Given the description of an element on the screen output the (x, y) to click on. 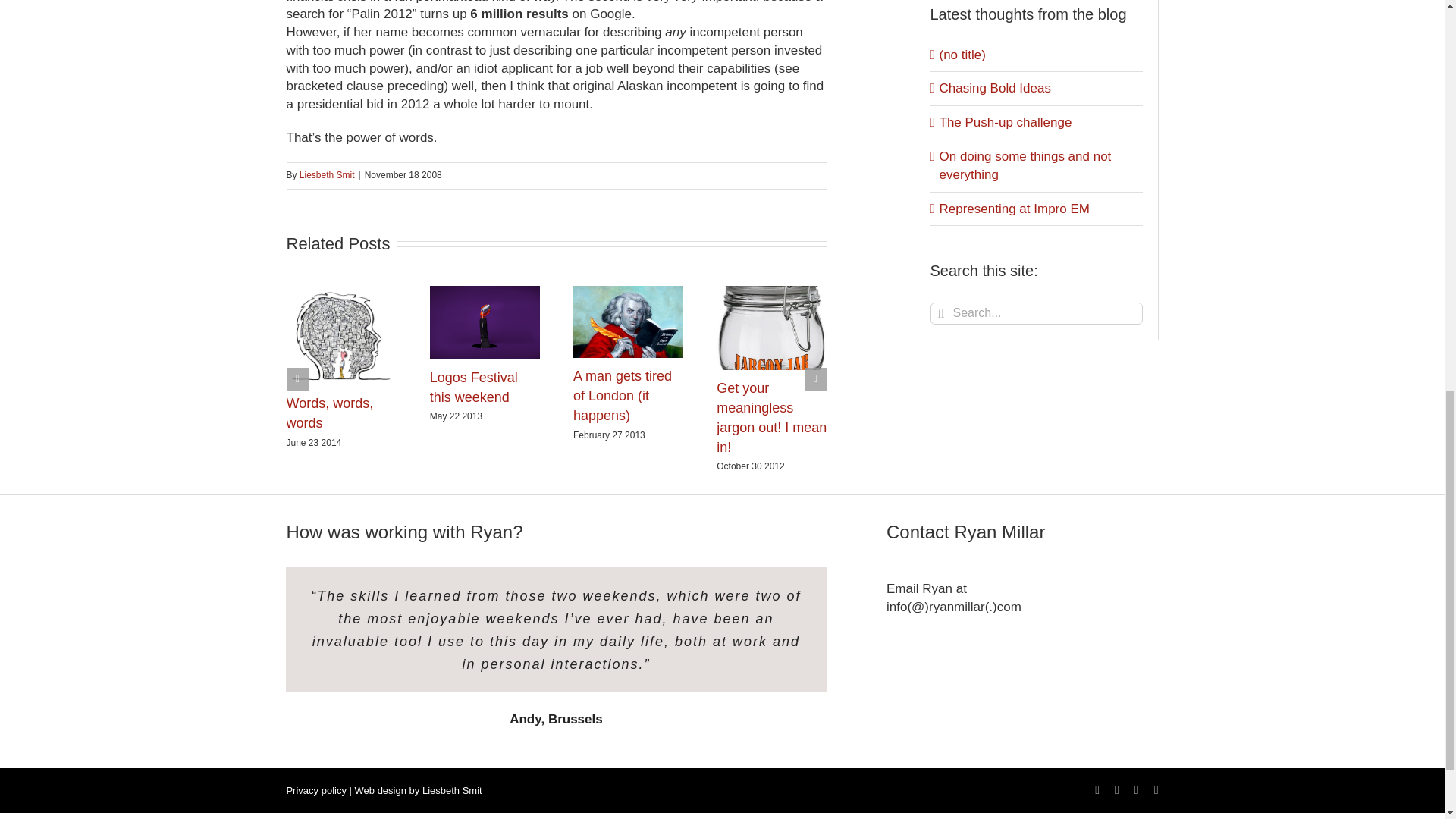
Logos Festival this weekend (473, 387)
Get your meaningless jargon out! I mean in! (771, 417)
Get your meaningless jargon out! I mean in! (771, 417)
Posts by Liesbeth Smit (327, 174)
The Push-up challenge (1005, 122)
Logos Festival this weekend (473, 387)
On doing some things and not everything (1024, 165)
Liesbeth Smit - Making Science Sexy (451, 790)
Liesbeth Smit (327, 174)
Words, words, words (330, 412)
